Given the description of an element on the screen output the (x, y) to click on. 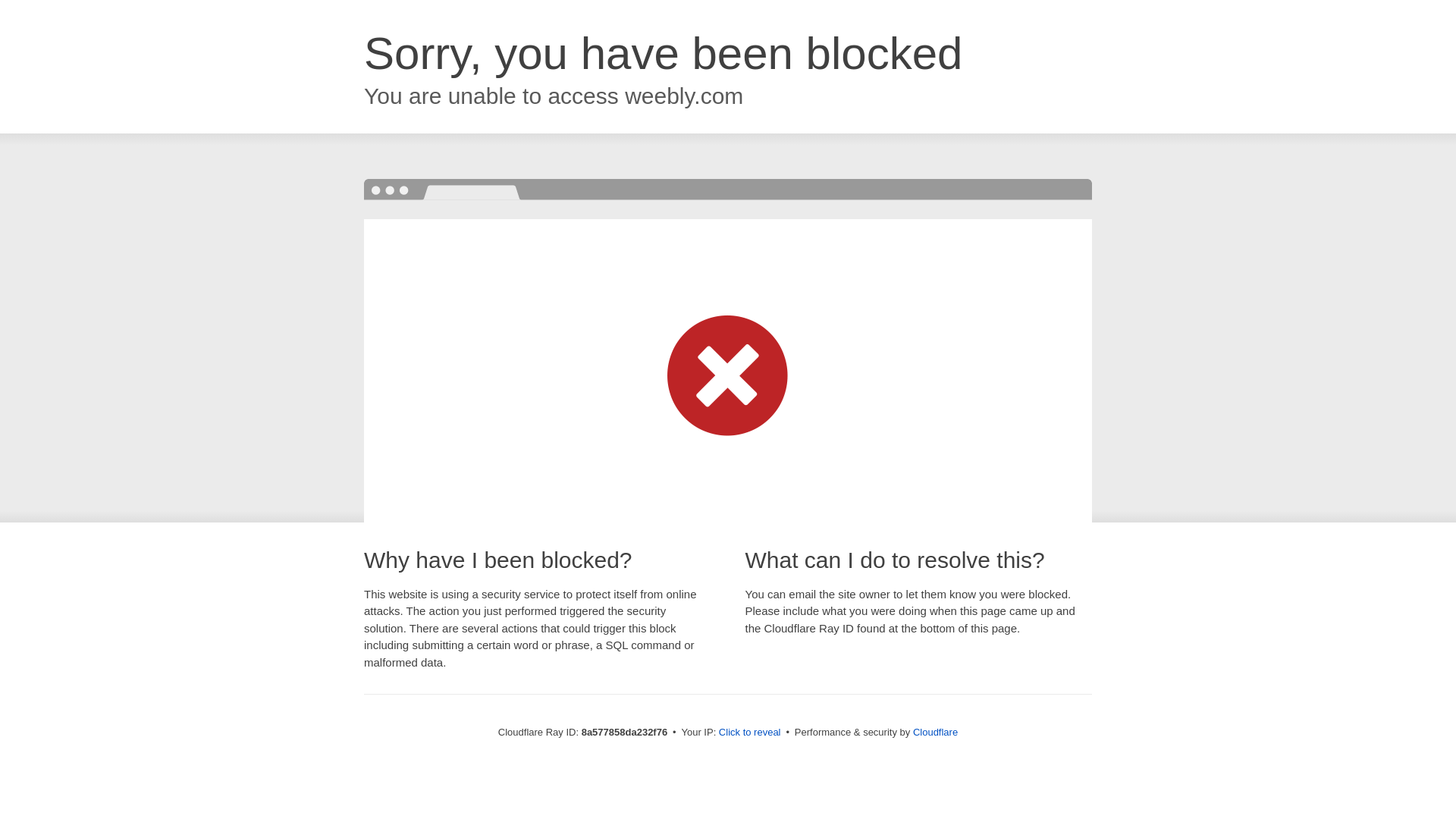
Click to reveal (749, 732)
Cloudflare (935, 731)
